Given the description of an element on the screen output the (x, y) to click on. 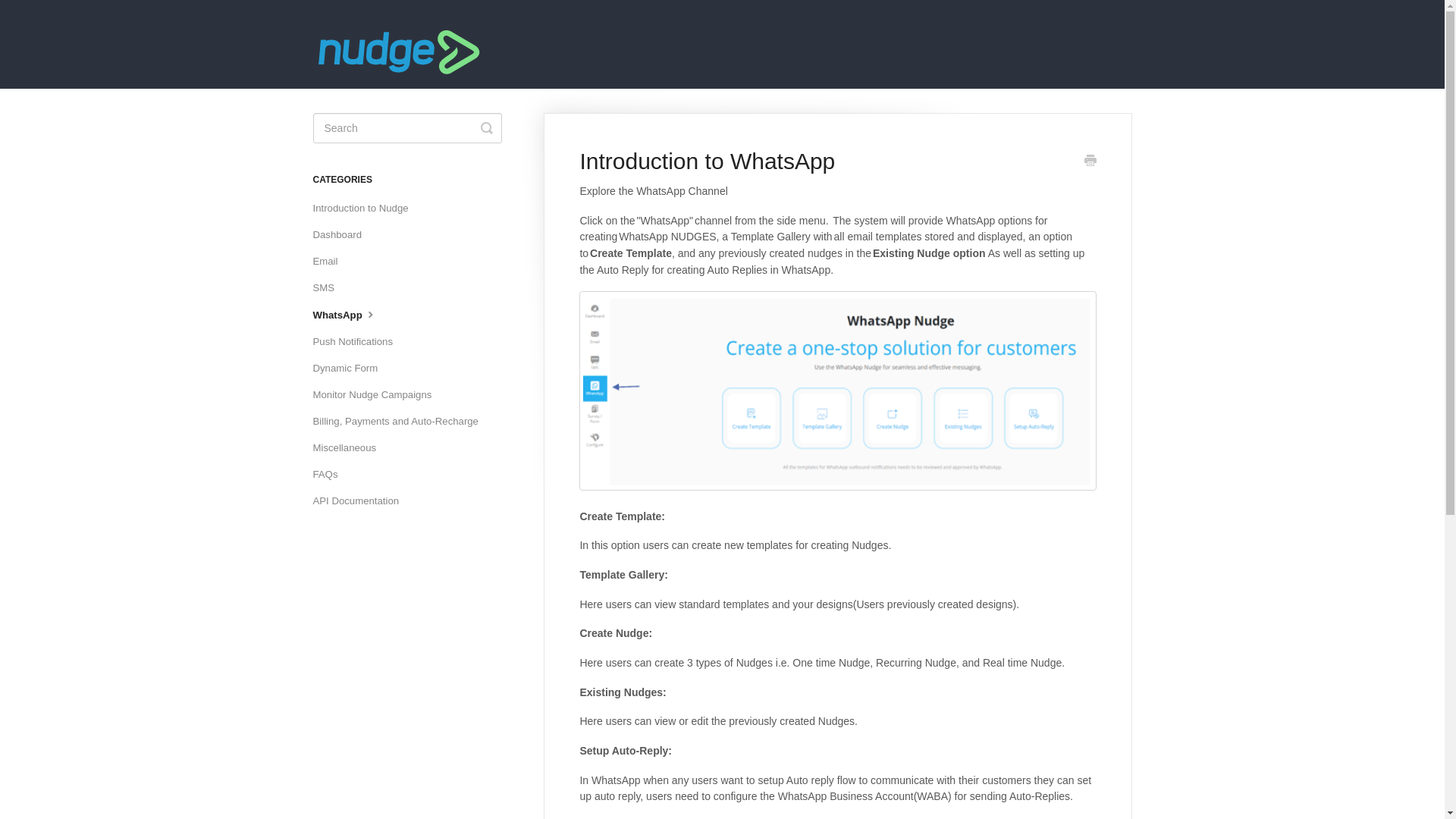
SMS (329, 288)
Introduction to Nudge (366, 208)
FAQs (331, 474)
Billing, Payments and Auto-Recharge (401, 421)
Email (331, 261)
Dashboard (342, 234)
API Documentation (361, 500)
Monitor Nudge Campaigns (377, 395)
Push Notifications (358, 341)
Miscellaneous (350, 447)
